Given the description of an element on the screen output the (x, y) to click on. 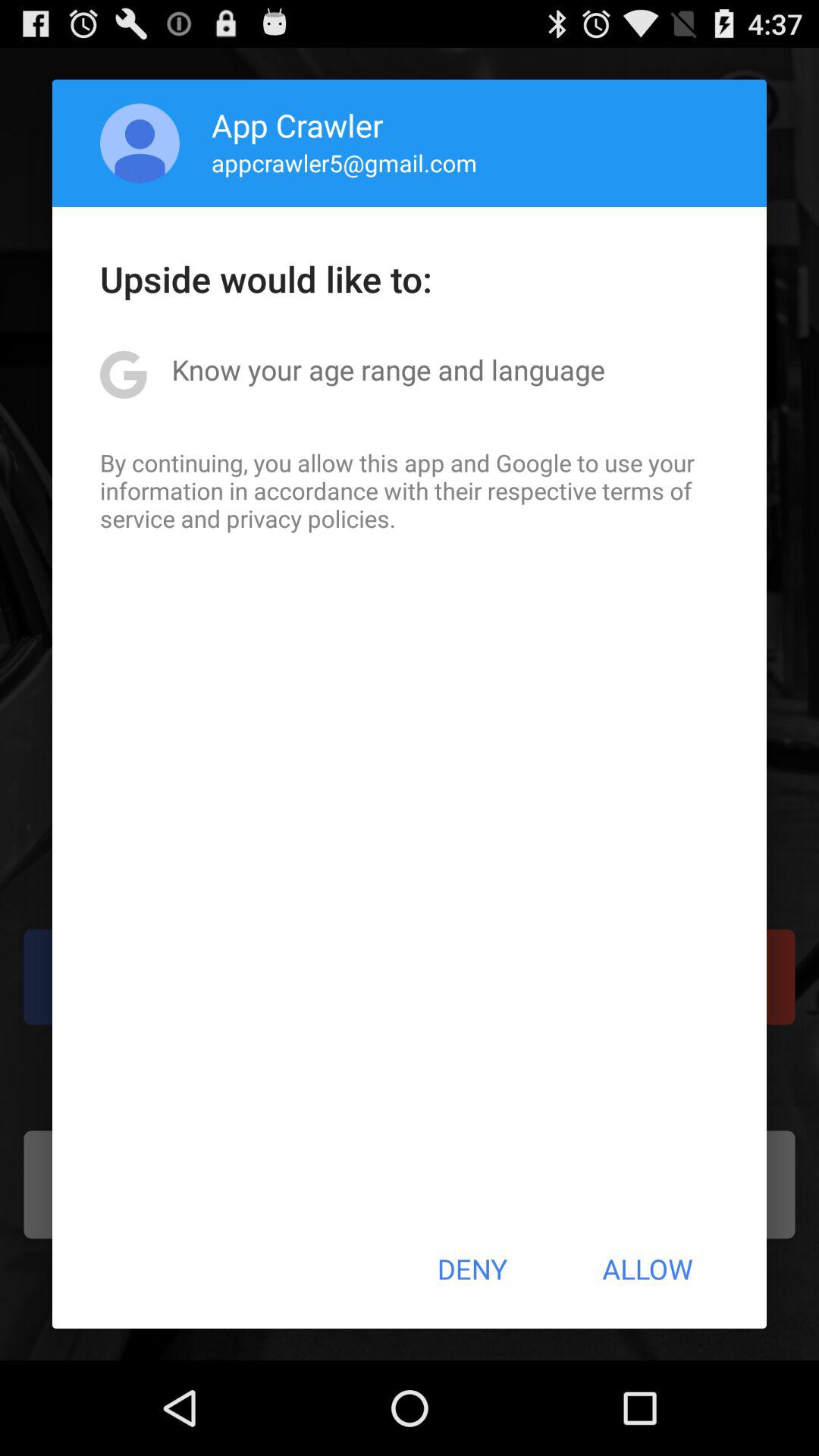
open know your age item (388, 369)
